Given the description of an element on the screen output the (x, y) to click on. 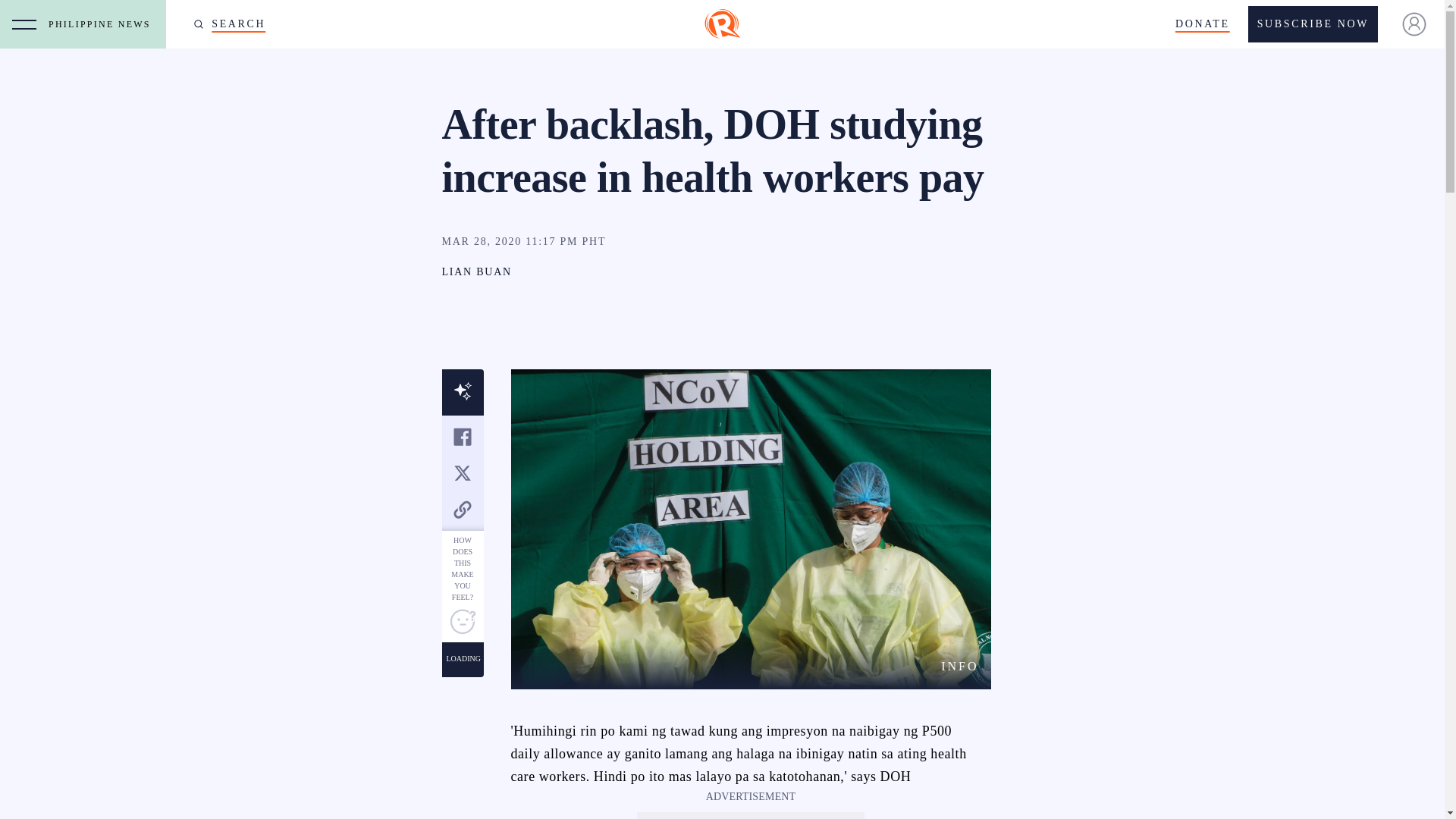
PHILIPPINE NEWS (103, 23)
OPEN NAVIGATION (24, 24)
